Given the description of an element on the screen output the (x, y) to click on. 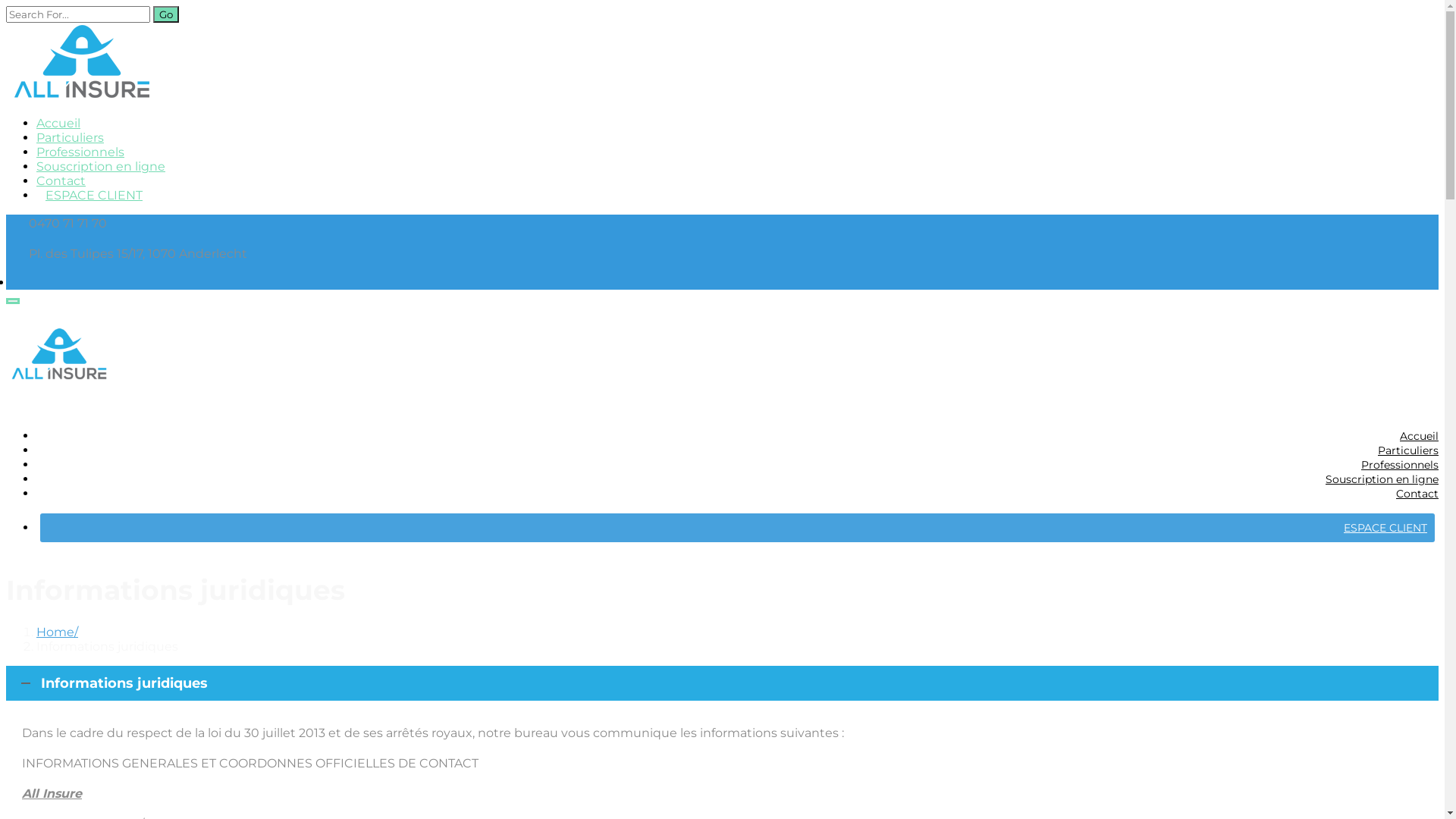
ESPACE CLIENT Element type: text (737, 527)
Souscription en ligne Element type: text (100, 166)
Accueil Element type: text (58, 123)
Accueil Element type: text (737, 435)
Particuliers Element type: text (737, 450)
Souscription en ligne Element type: text (737, 479)
Go Element type: text (165, 14)
Professionnels Element type: text (737, 464)
Particuliers Element type: text (69, 137)
Contact Element type: text (737, 493)
Contact Element type: text (60, 180)
ESPACE CLIENT Element type: text (93, 195)
Home Element type: text (57, 631)
Professionnels Element type: text (80, 151)
Informations juridiques Element type: text (722, 682)
